Given the description of an element on the screen output the (x, y) to click on. 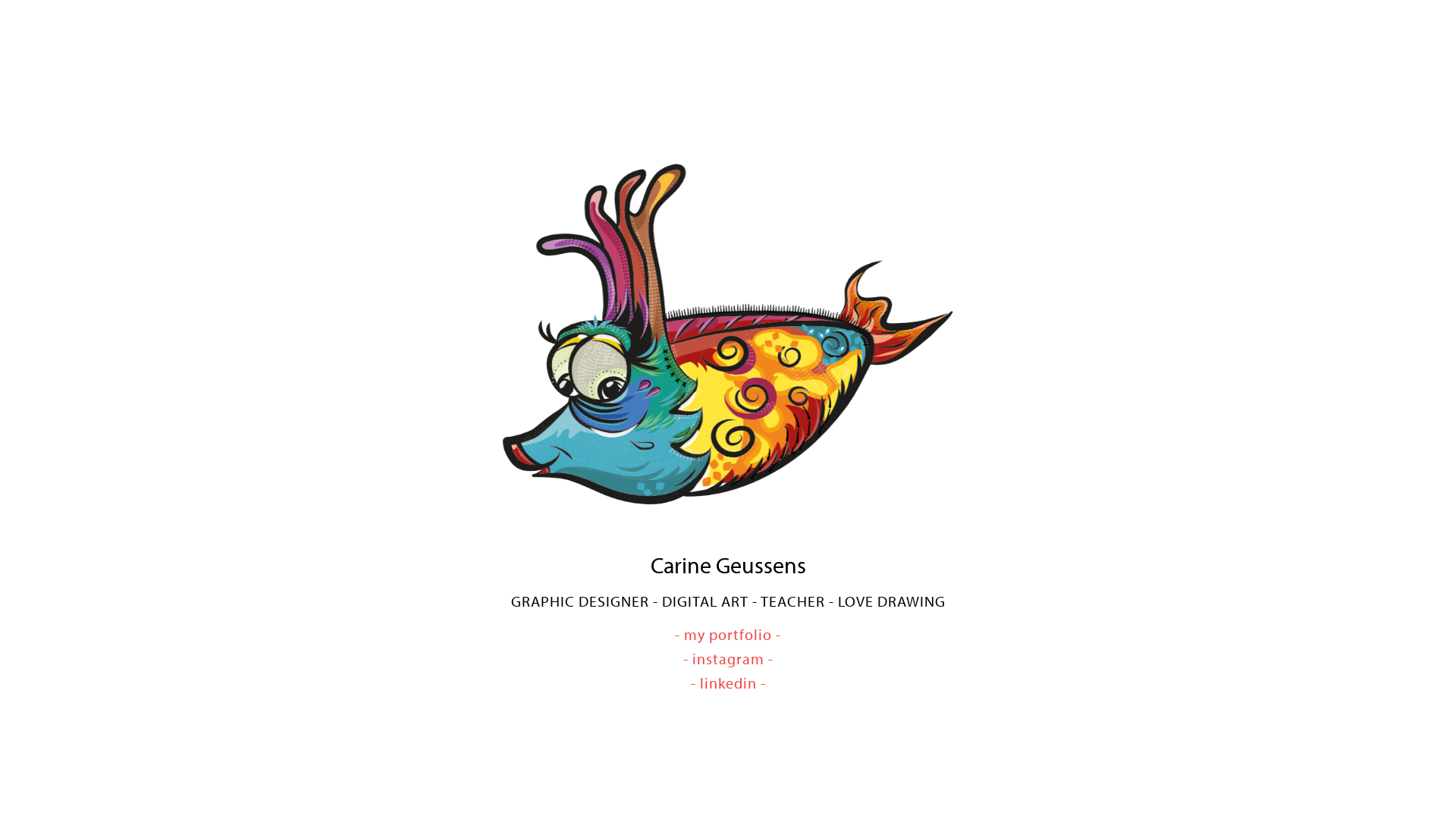
- instagram - Element type: text (727, 658)
- my portfolio - Element type: text (727, 633)
- linkedin - Element type: text (727, 682)
